Given the description of an element on the screen output the (x, y) to click on. 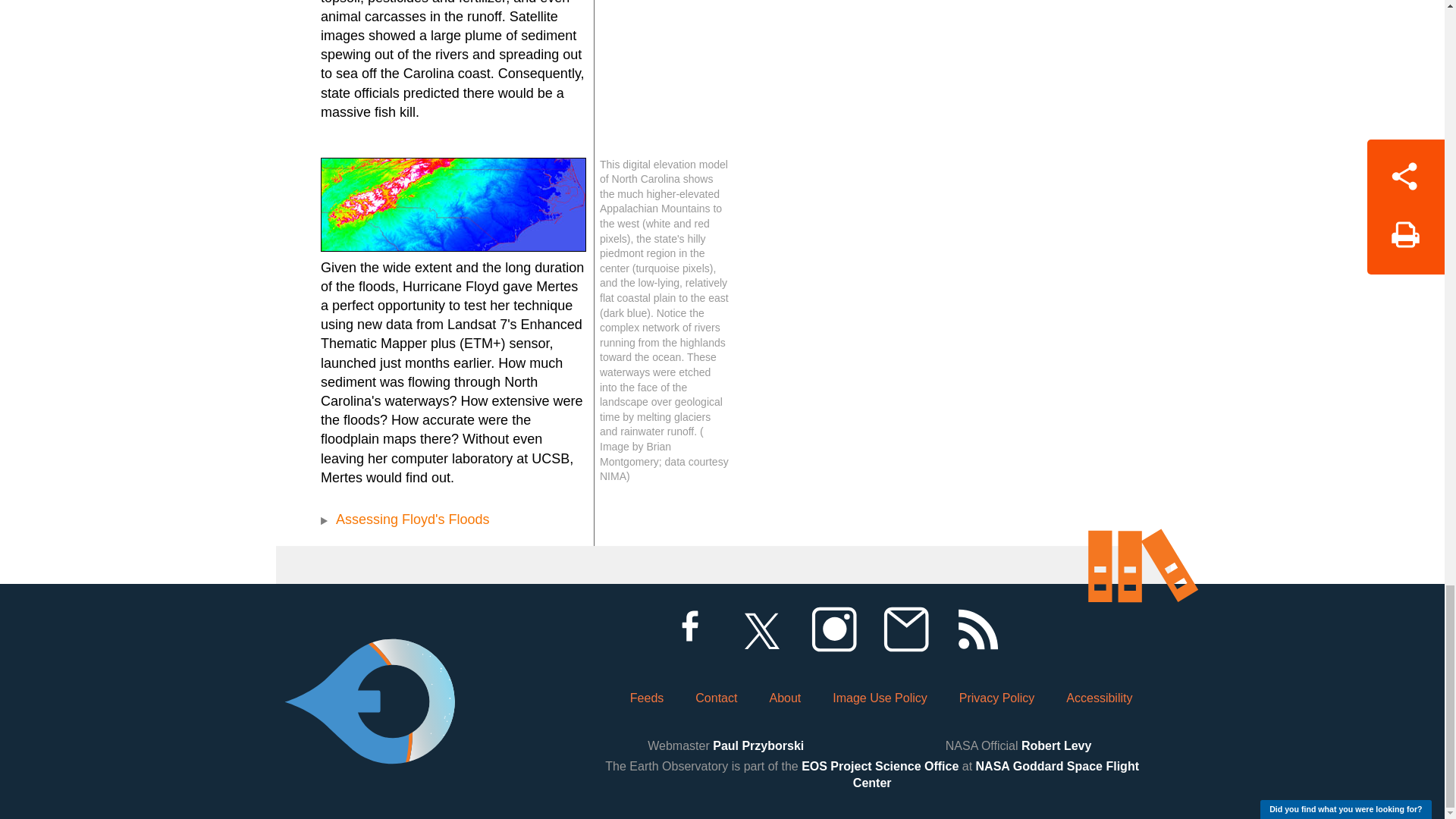
RSS (977, 629)
Earth Observatory (369, 659)
Subscribe (905, 629)
Instagram (833, 629)
Twitter (761, 629)
Facebook (689, 629)
